Given the description of an element on the screen output the (x, y) to click on. 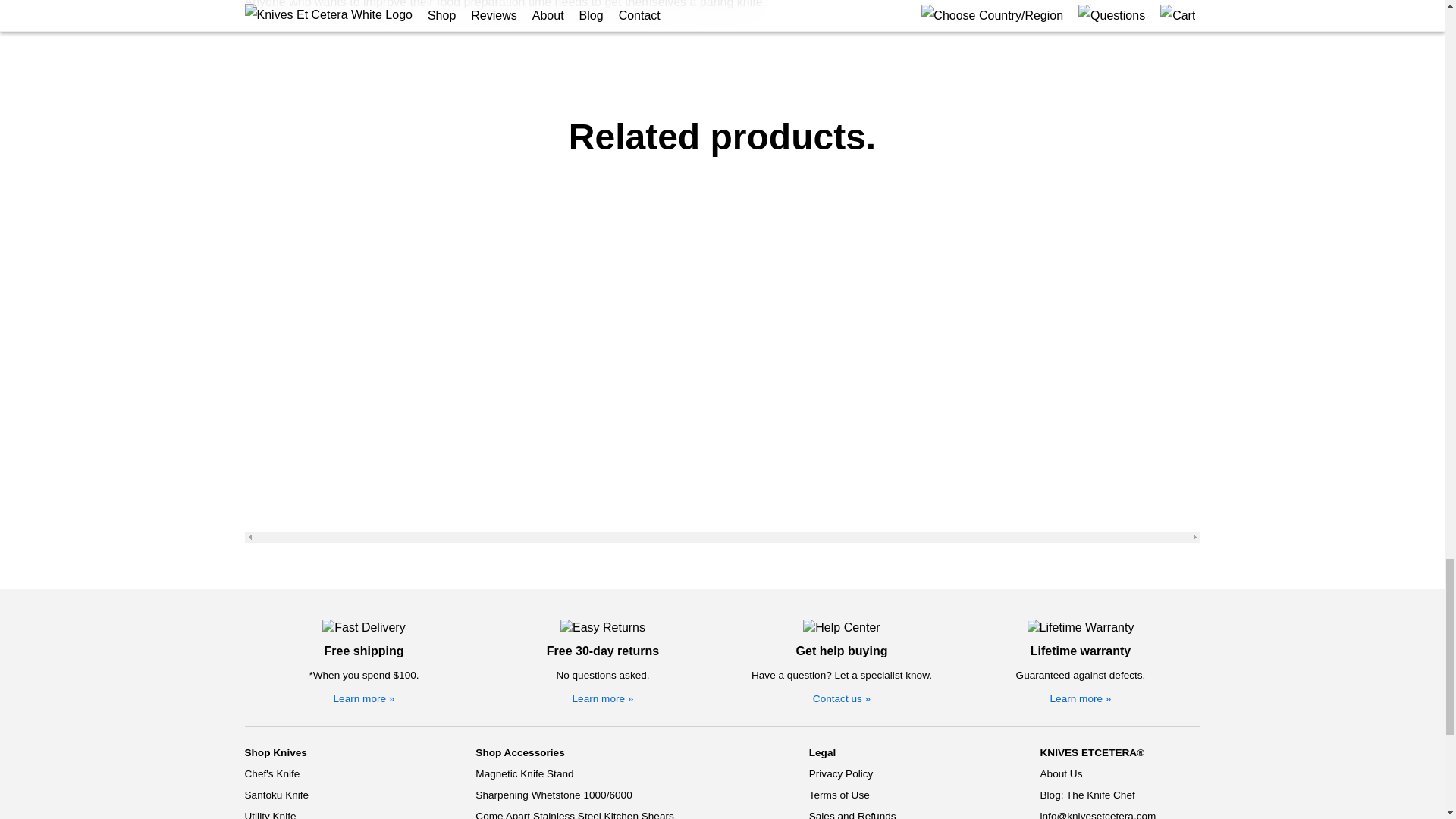
FAQ (857, 582)
Pinterest (1094, 603)
Easy Returns (602, 288)
Paring Knife (292, 540)
Sales and Refunds (857, 476)
Carving Knife (292, 604)
Shipping Policy (857, 497)
Come Apart Stainless Steel Kitchen Shears (574, 476)
TikTok (1088, 581)
Product Reviews (857, 561)
Magnetic Knife Stand (574, 434)
Facebook (1096, 539)
Privacy Policy (857, 434)
Lifetime Warranty (1080, 288)
Chef's Knife (292, 434)
